Given the description of an element on the screen output the (x, y) to click on. 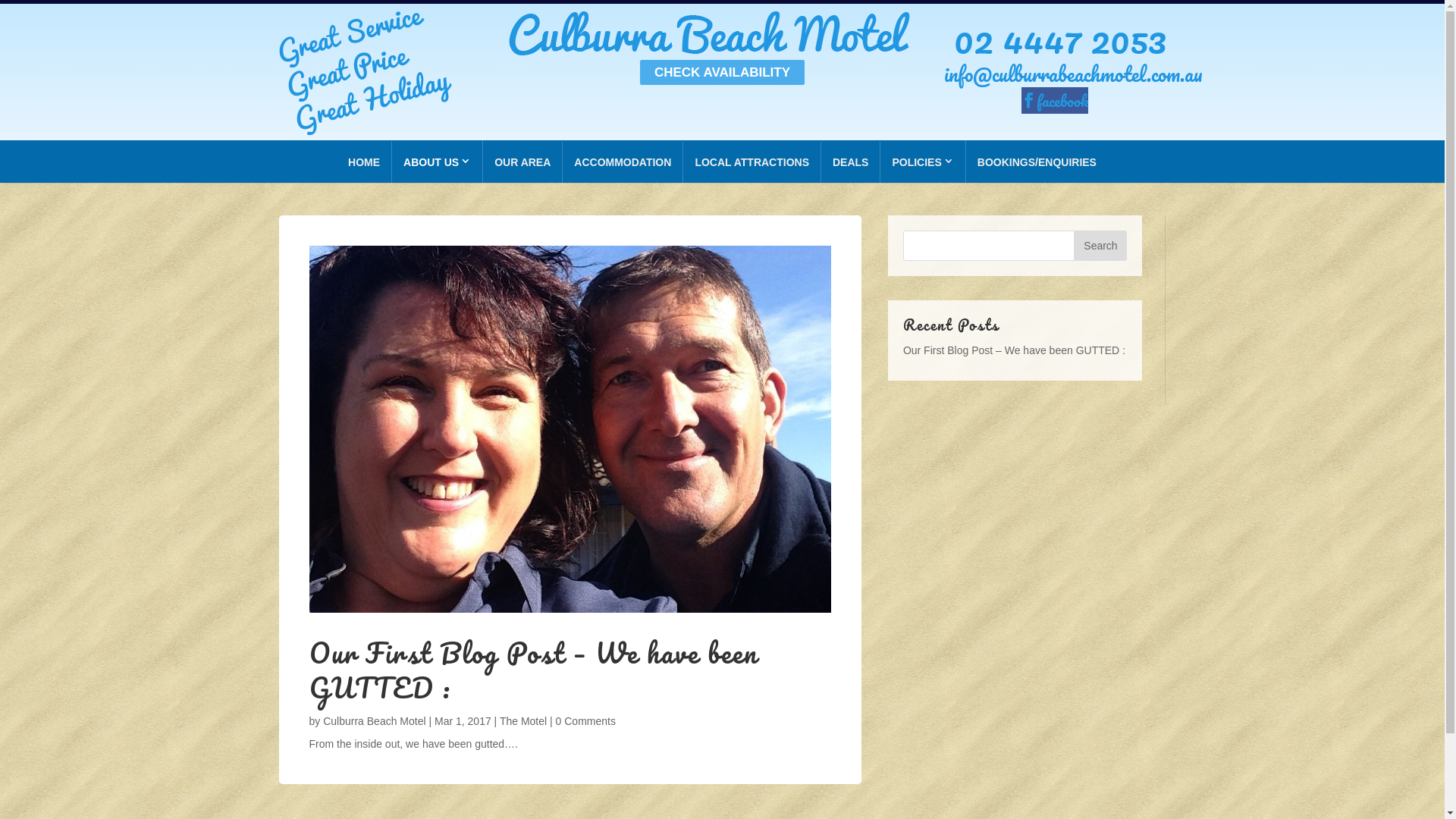
POLICIES Element type: text (922, 161)
Culburra Beach Motel Element type: text (374, 721)
ACCOMMODATION Element type: text (622, 161)
LOCAL ATTRACTIONS Element type: text (751, 161)
BOOKINGS/ENQUIRIES Element type: text (1036, 161)
CHECK AVAILABILITY Element type: text (722, 71)
Search Element type: text (1099, 245)
facebook Element type: text (1054, 100)
info@culburrabeachmotel.com.au Element type: text (1073, 73)
The Motel Element type: text (522, 721)
HOME Element type: text (363, 161)
ABOUT US Element type: text (437, 161)
OUR AREA Element type: text (522, 161)
02 4447 2053 Element type: text (1055, 38)
DEALS Element type: text (850, 161)
